Given the description of an element on the screen output the (x, y) to click on. 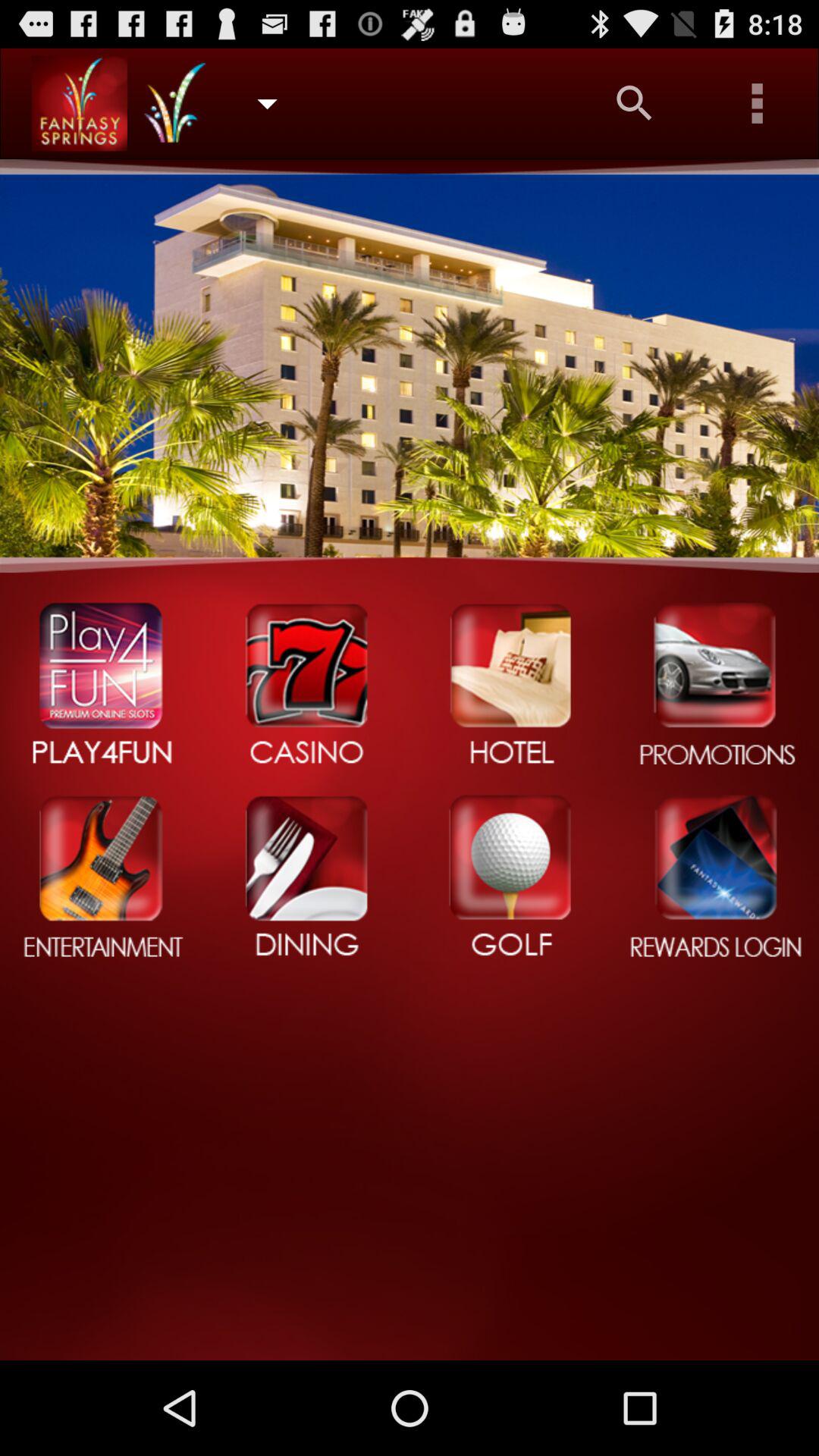
show menu (757, 103)
